Given the description of an element on the screen output the (x, y) to click on. 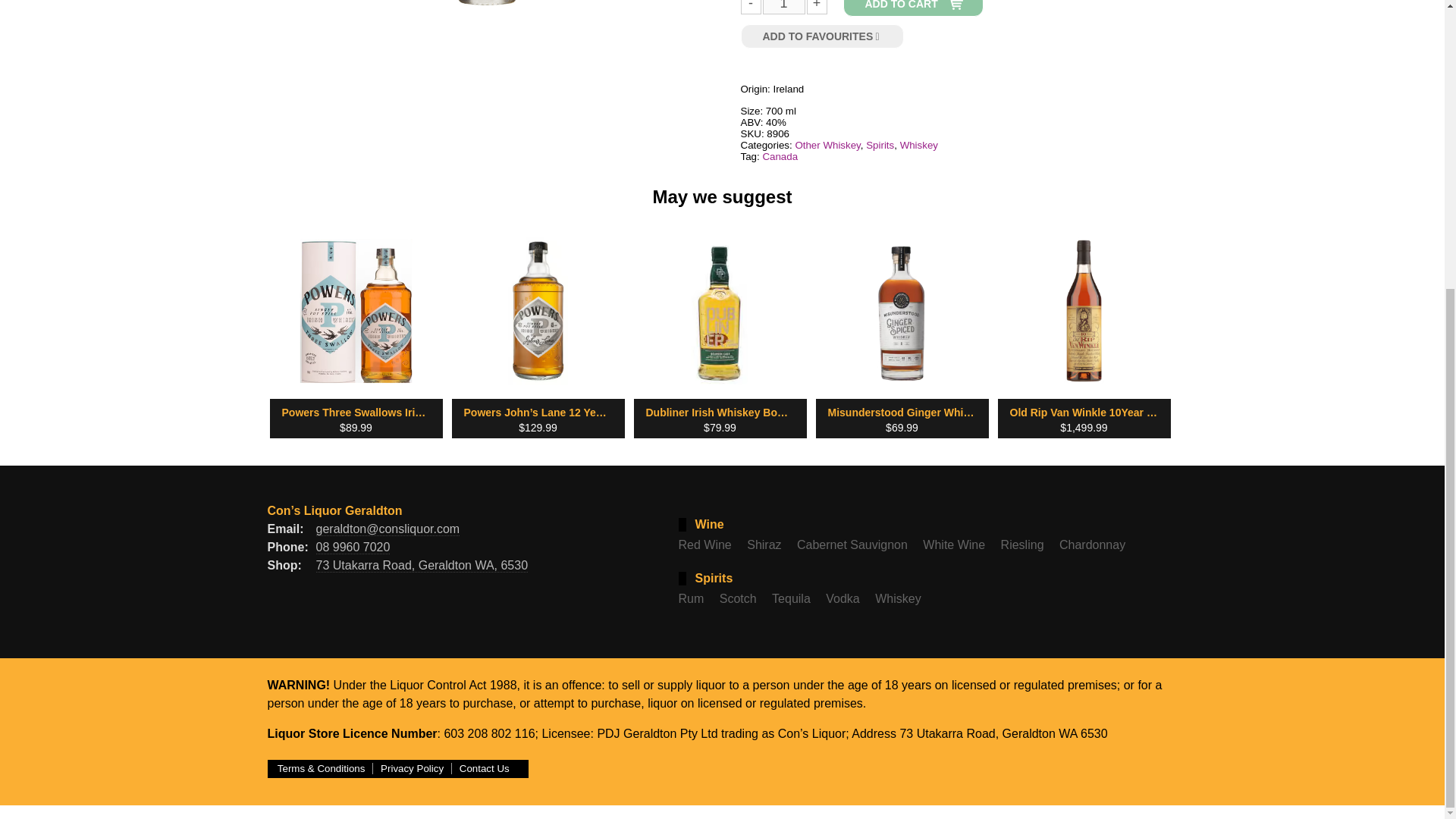
1 (782, 6)
jameson-BB (486, 2)
Add to Favourites (821, 36)
